Given the description of an element on the screen output the (x, y) to click on. 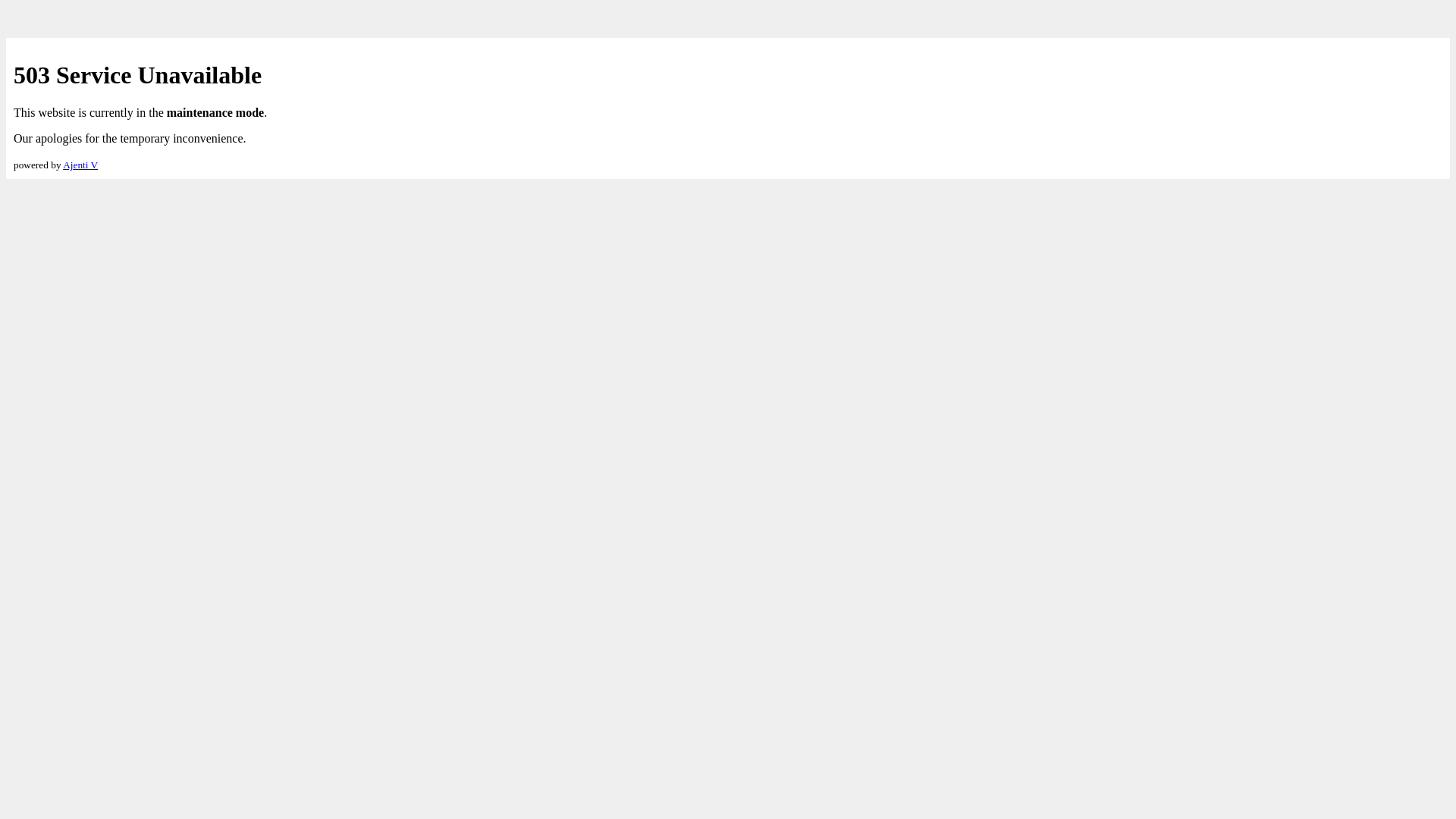
Ajenti V Element type: text (79, 164)
